Given the description of an element on the screen output the (x, y) to click on. 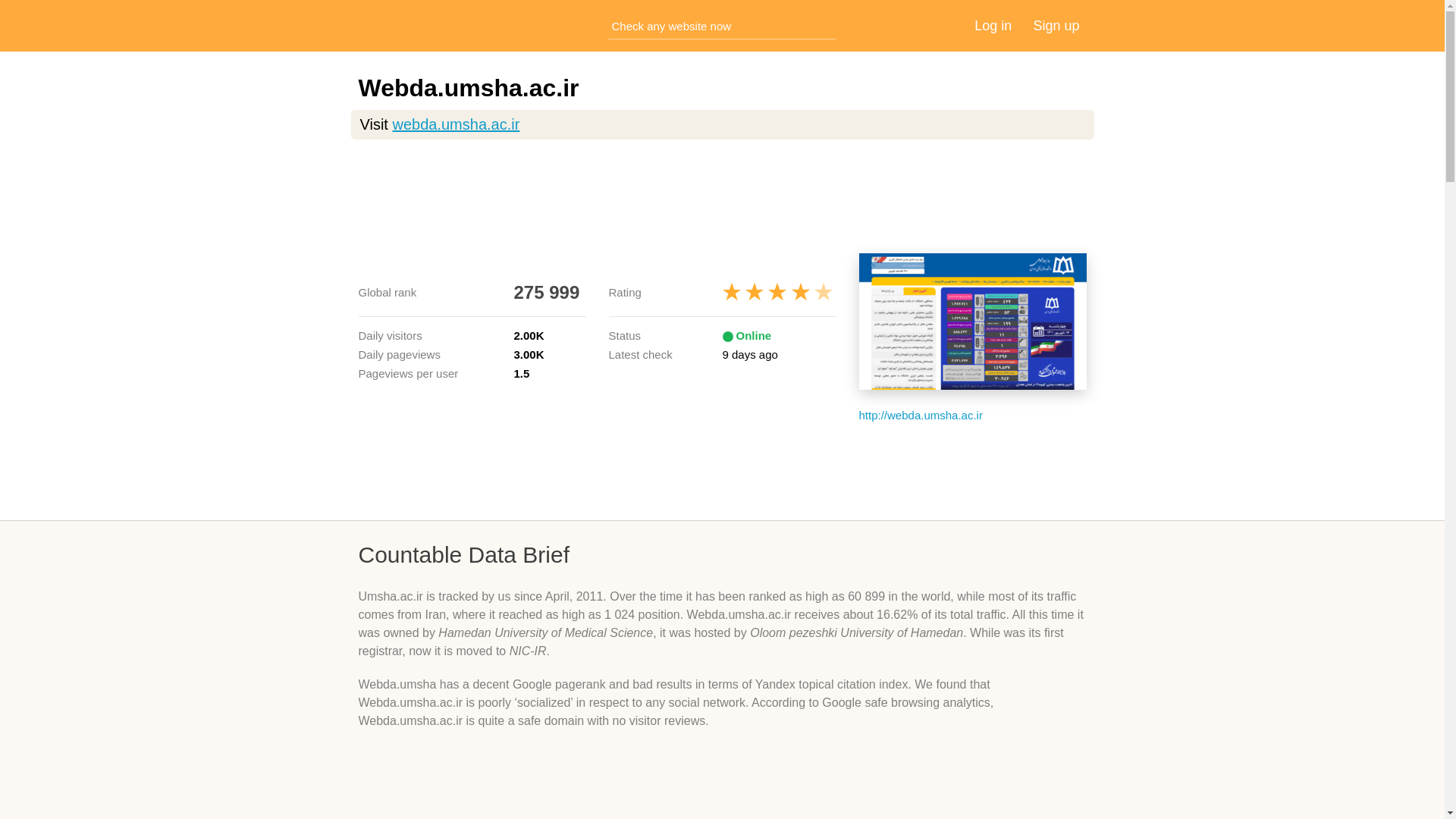
Webda.umsha.ac.ir thumbnail (972, 321)
Log in (992, 25)
webda.umsha.ac.ir (455, 124)
Sign up (1056, 25)
